Given the description of an element on the screen output the (x, y) to click on. 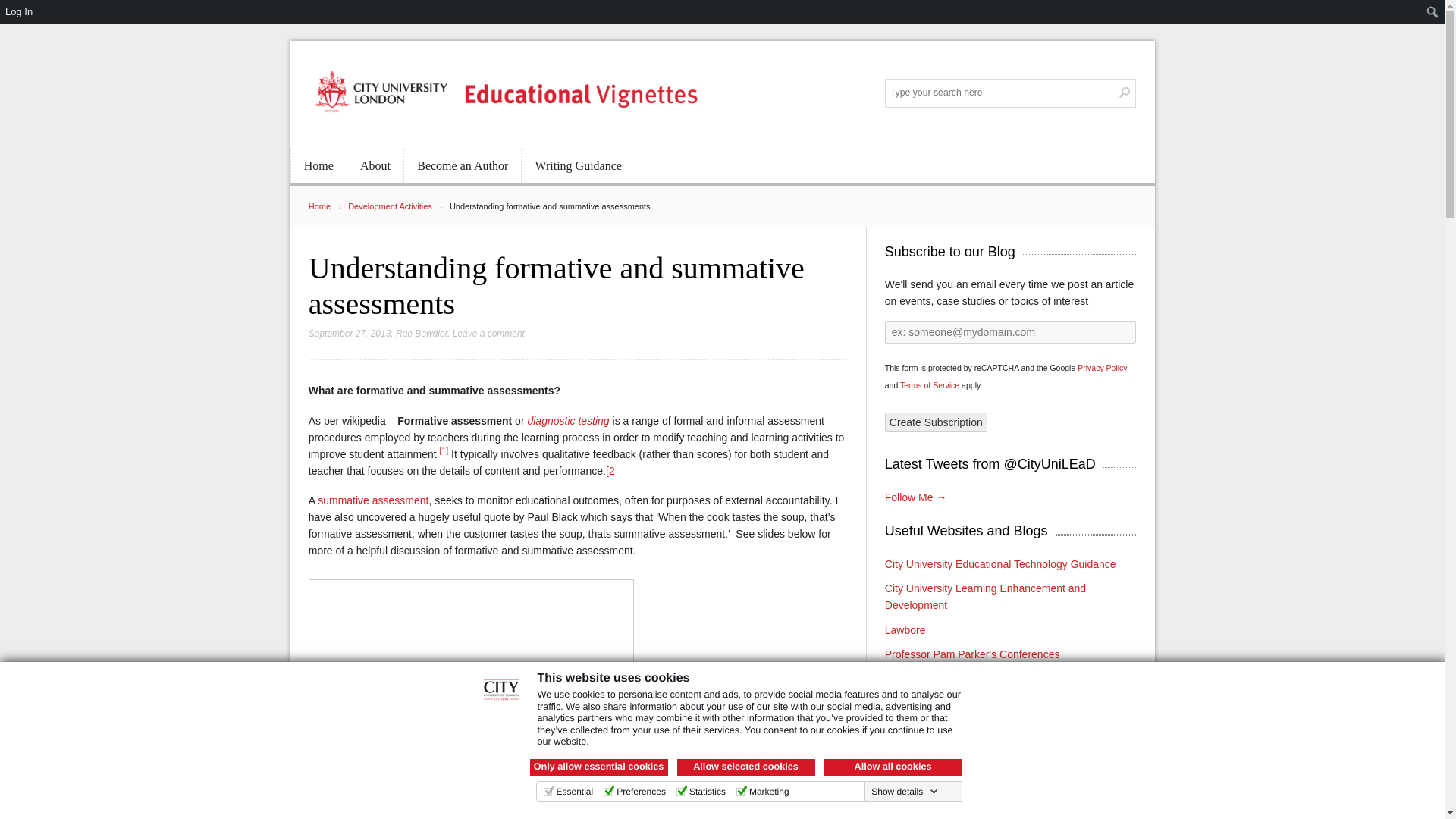
Allow all cookies (892, 767)
Create Subscription (936, 422)
Only allow essential cookies (597, 767)
Allow selected cookies (745, 767)
Show details (903, 791)
